Given the description of an element on the screen output the (x, y) to click on. 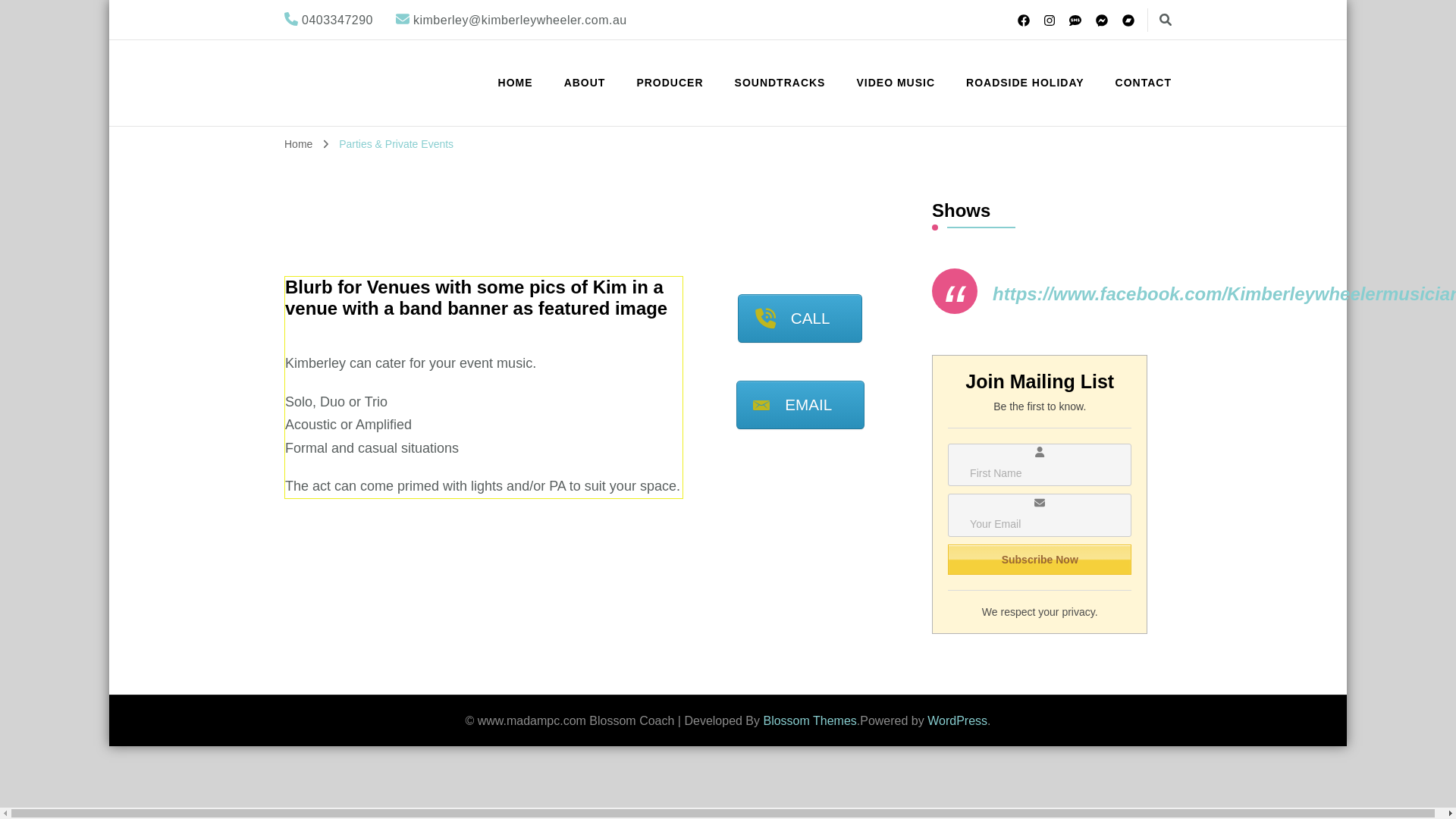
CONTACT Element type: text (1136, 83)
WordPress Element type: text (957, 720)
ROADSIDE HOLIDAY Element type: text (1025, 83)
CALL Element type: text (799, 318)
EMAIL Element type: text (800, 404)
0403347290 Element type: text (337, 19)
Kimberley Wheeler Element type: text (464, 79)
Home Element type: text (298, 144)
SOUNDTRACKS Element type: text (780, 83)
HOME Element type: text (515, 83)
PRODUCER Element type: text (669, 83)
Subscribe Now Element type: text (1039, 559)
ABOUT Element type: text (584, 83)
kimberley@kimberleywheeler.com.au Element type: text (520, 19)
Parties & Private Events Element type: text (395, 144)
VIDEO MUSIC Element type: text (895, 83)
Blossom Themes Element type: text (809, 720)
